Given the description of an element on the screen output the (x, y) to click on. 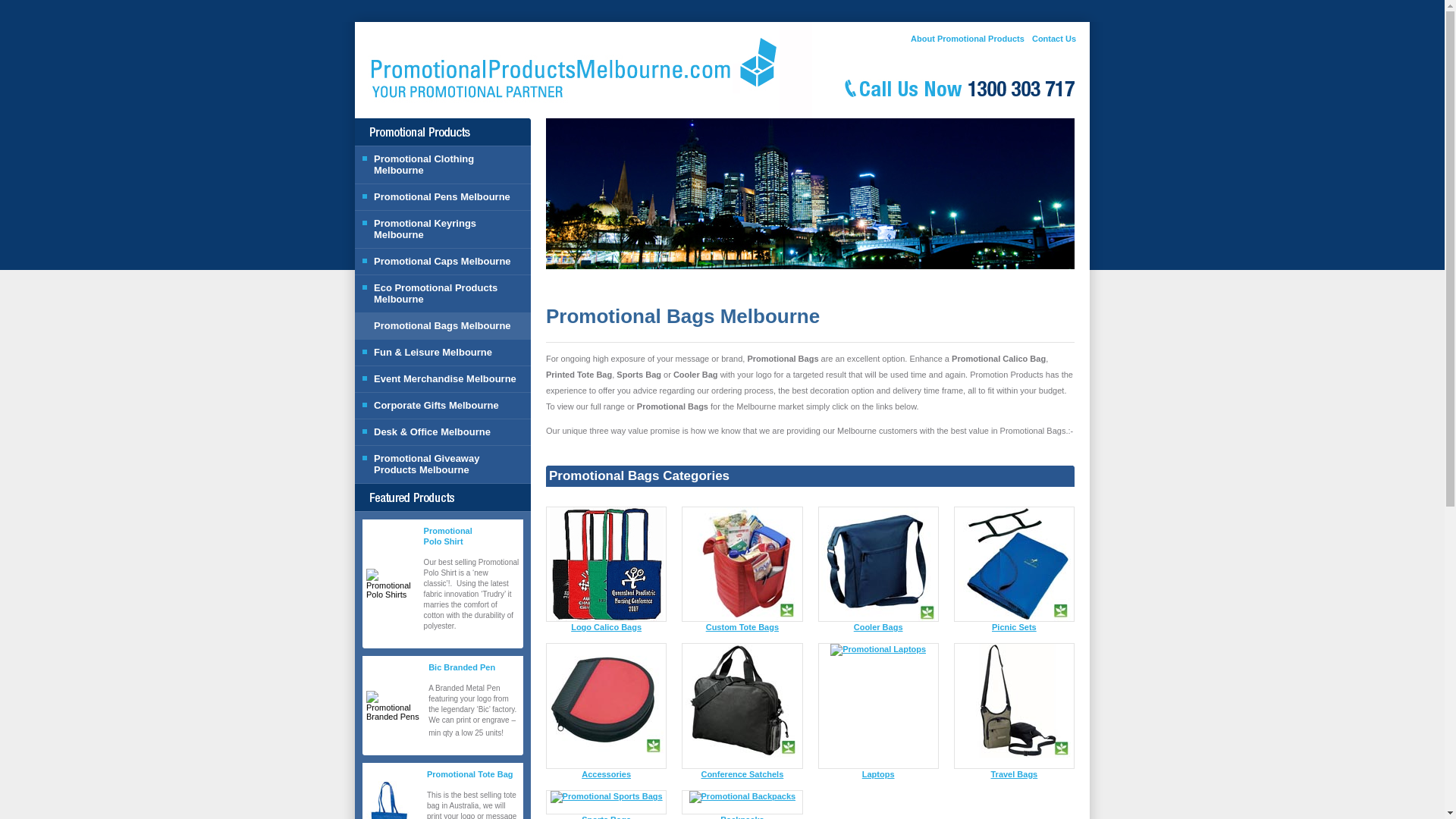
Event Merchandise Melbourne (443, 378)
Logo Calico Bags (606, 626)
Contact Us (1053, 38)
Promotional Keyrings Melbourne (443, 228)
Promotional Clothing Melbourne (443, 164)
Eco Promotional Products Melbourne (443, 293)
Promotional Bags Melbourne (443, 325)
Promotional Pens Melbourne (443, 196)
Promotional Giveaway Products Melbourne (443, 464)
Sports Bags (605, 816)
